Given the description of an element on the screen output the (x, y) to click on. 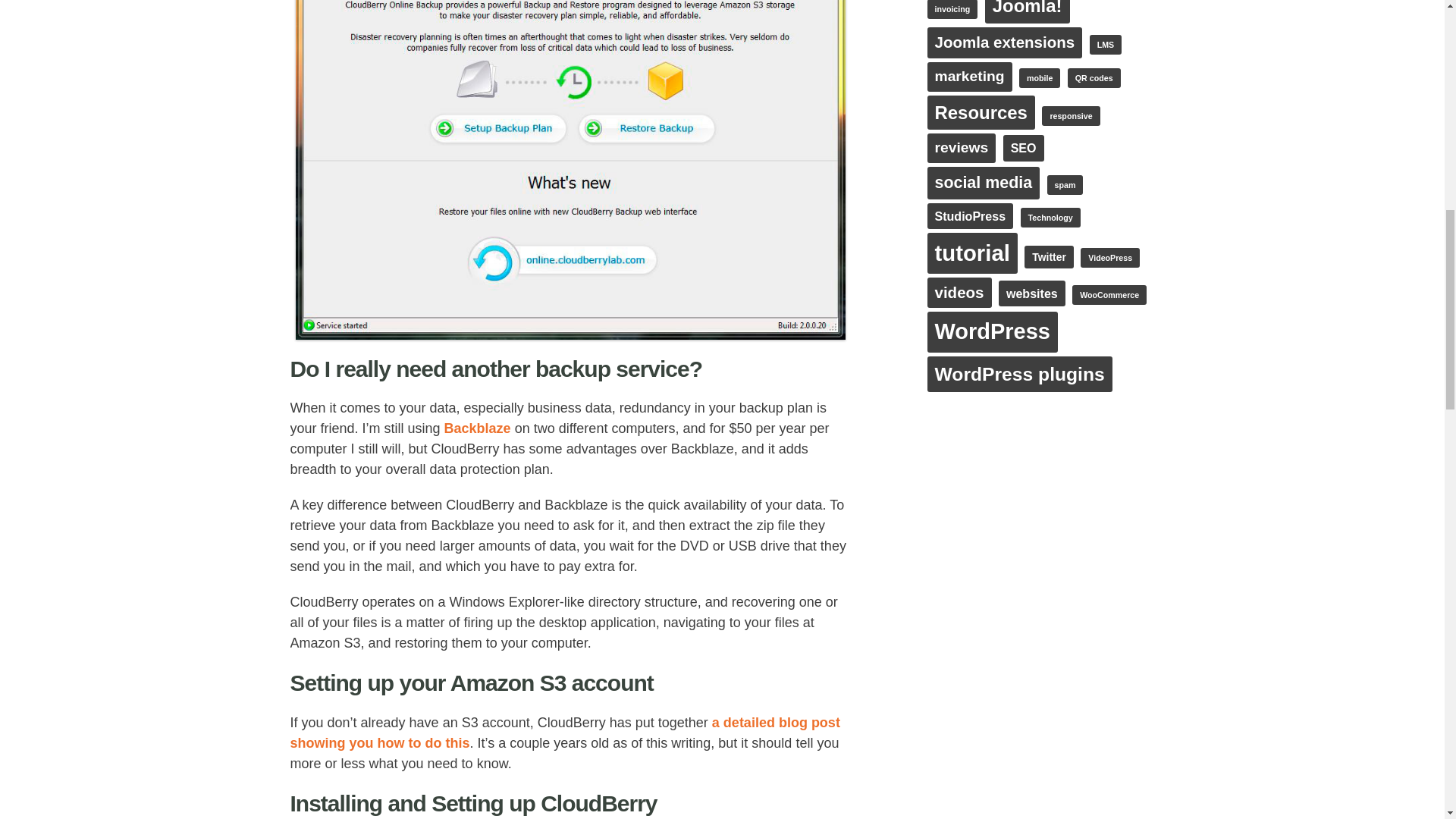
a detailed blog post showing you how to do this (564, 732)
Backblaze (477, 427)
